Given the description of an element on the screen output the (x, y) to click on. 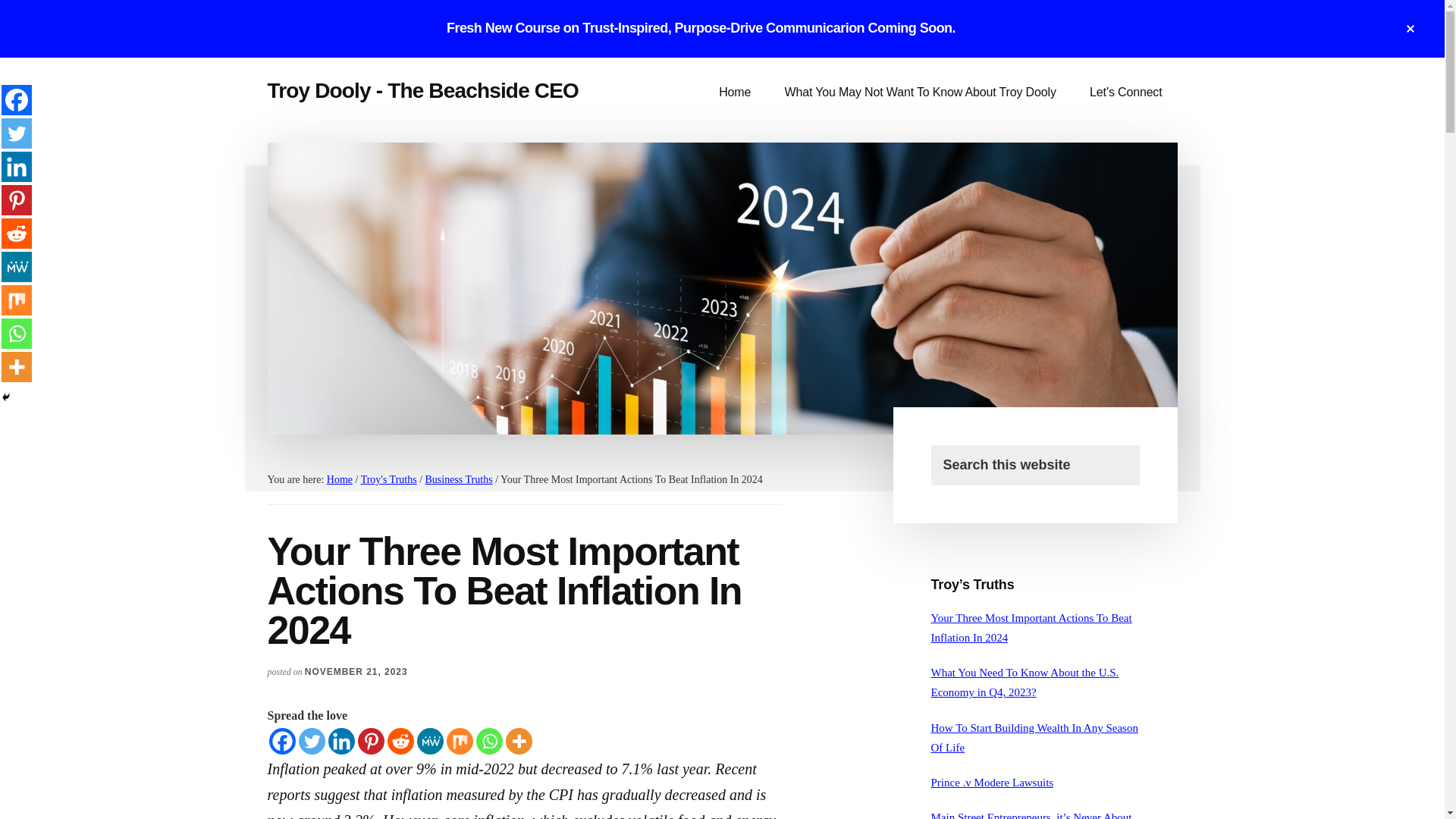
More (518, 741)
Troy Dooly - The Beachside CEO (422, 90)
Linkedin (16, 166)
Facebook (16, 100)
What You May Not Want To Know About Troy Dooly (920, 92)
Business Truths (459, 479)
MeWe (430, 741)
Twitter (311, 741)
Home (339, 479)
